Given the description of an element on the screen output the (x, y) to click on. 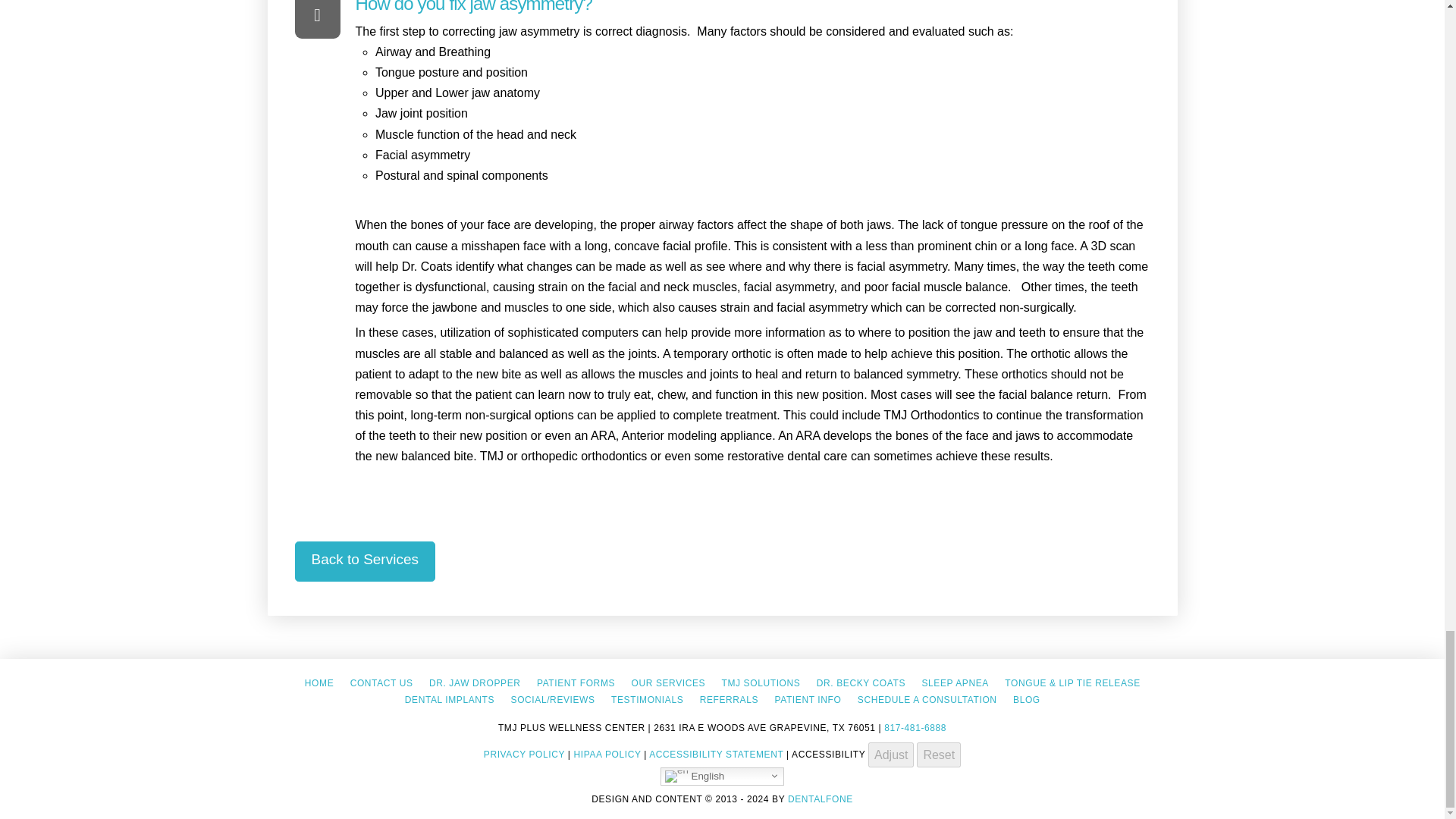
Return to Services (363, 561)
Contact Our Office (381, 682)
Phone Number (914, 727)
